Given the description of an element on the screen output the (x, y) to click on. 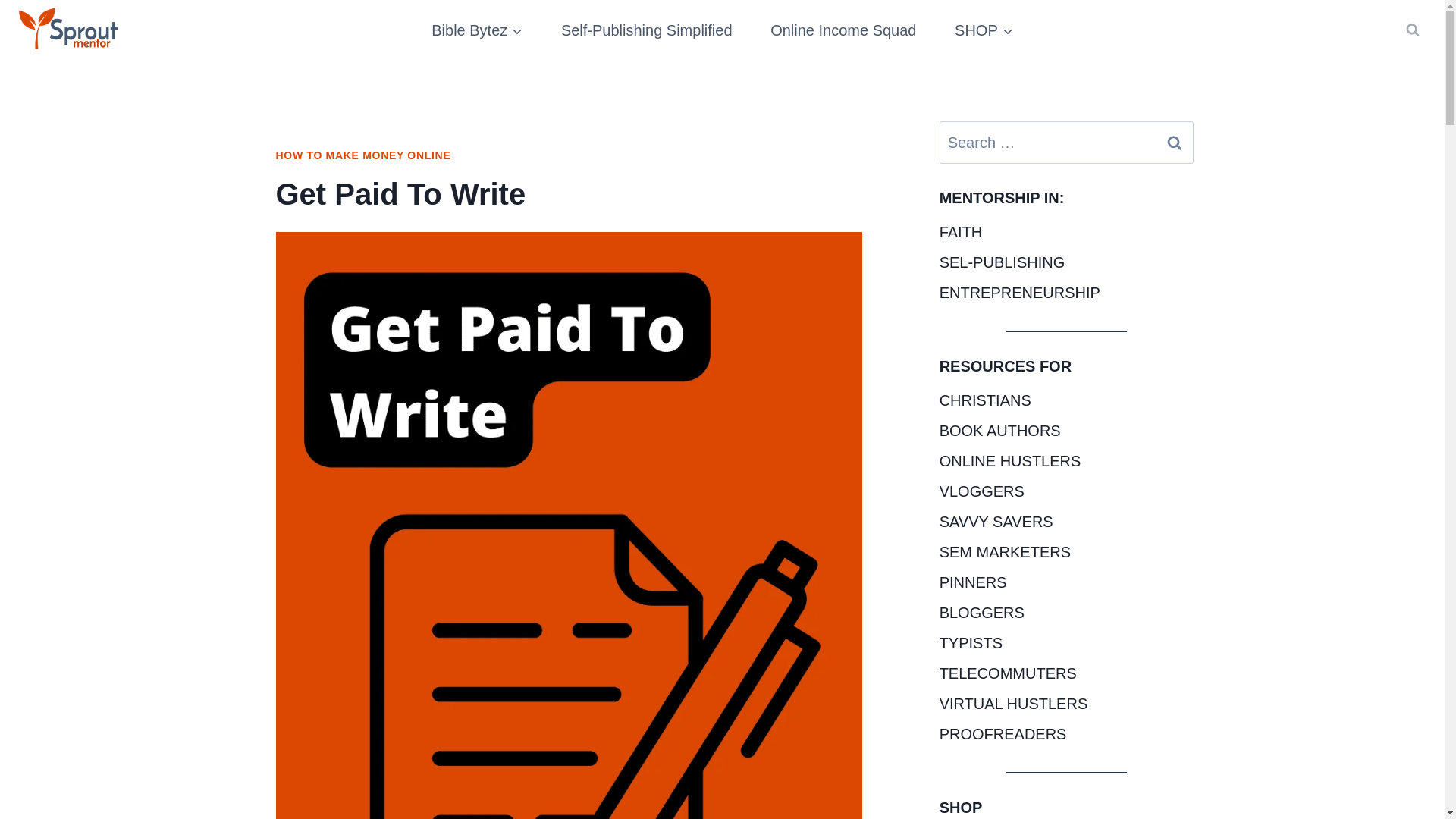
Bible Bytez (476, 30)
Search (1174, 142)
Online Income Squad (843, 30)
Self-Publishing Simplified (646, 30)
Search (1174, 142)
HOW TO MAKE MONEY ONLINE (363, 155)
SHOP (984, 30)
